Given the description of an element on the screen output the (x, y) to click on. 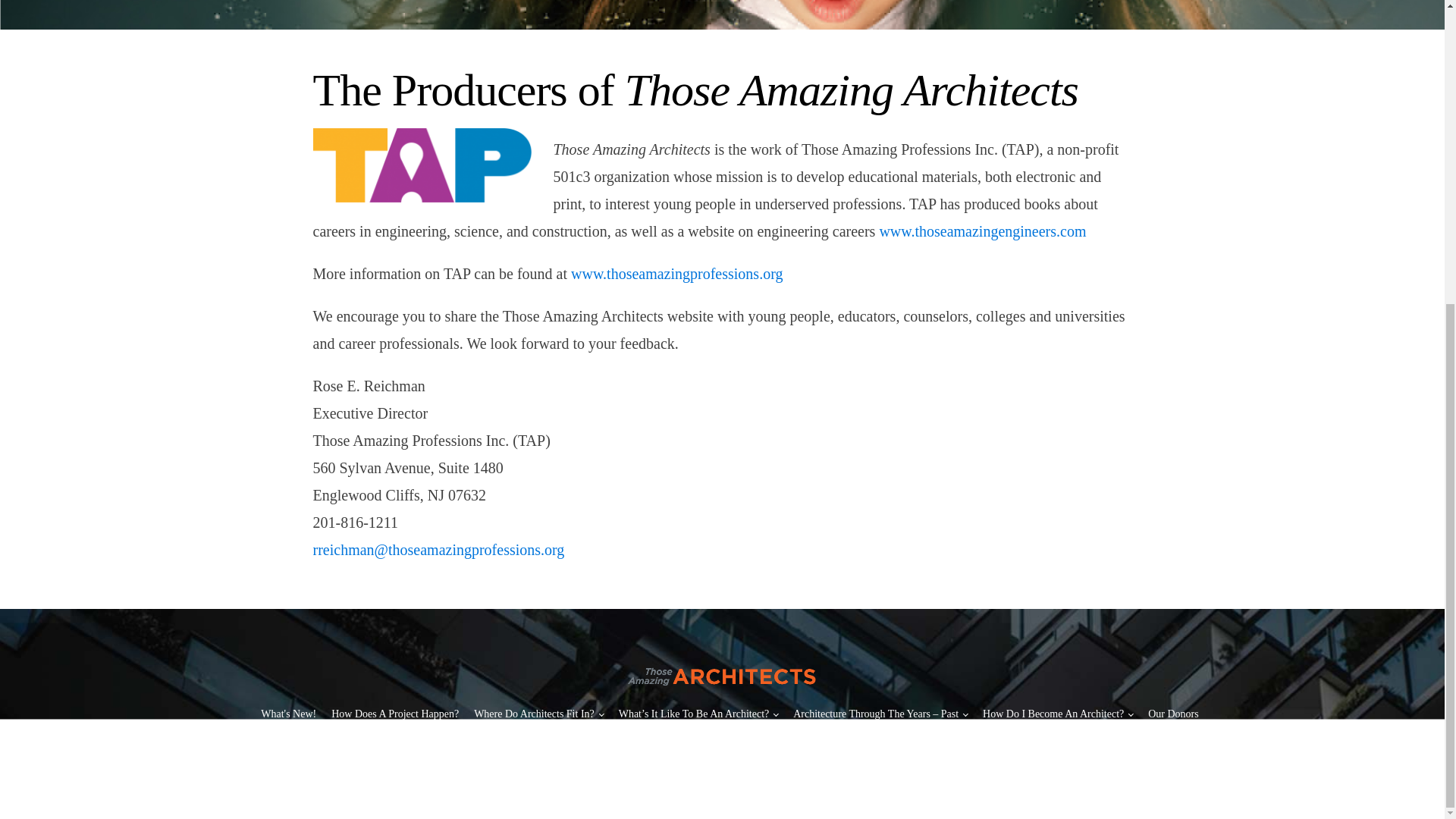
www.thoseamazingengineers.com (982, 230)
www.thoseamazingprofessions.org (676, 273)
How Does A Project Happen? (394, 713)
What'S New! (288, 713)
How Do I Become An Architect? (1057, 713)
Where Do Architects Fit In? (538, 713)
THOSE AMAZING PROFESSIONS (873, 753)
Our Donors (1173, 713)
